Given the description of an element on the screen output the (x, y) to click on. 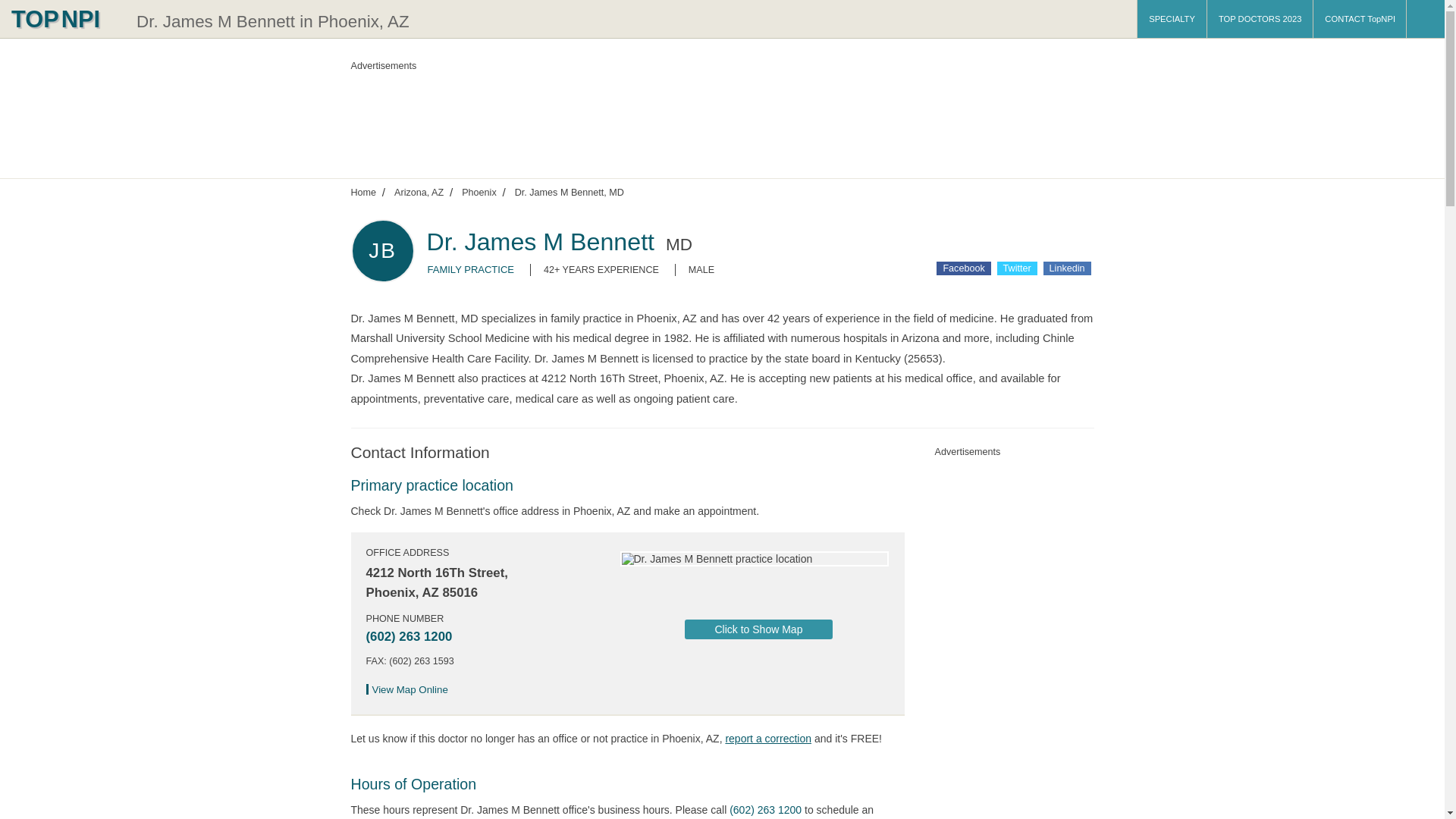
Doctors in Arizona (419, 191)
Phoenix (478, 191)
Linkedin (1066, 268)
Update practice location (767, 738)
Find doctors by specialty (1172, 18)
TOPNPI (64, 18)
FAMILY PRACTICE (471, 269)
report a correction (767, 738)
Share Dr. James M Bennett on Twitter (1016, 268)
SPECIALTY (1172, 18)
TOP DOCTORS 2023 (1260, 18)
Top doctors in the US 2023 (1260, 18)
Share Dr. James M Bennett on Linkedin (1066, 268)
Click to show map (758, 629)
View Map Online (411, 689)
